Given the description of an element on the screen output the (x, y) to click on. 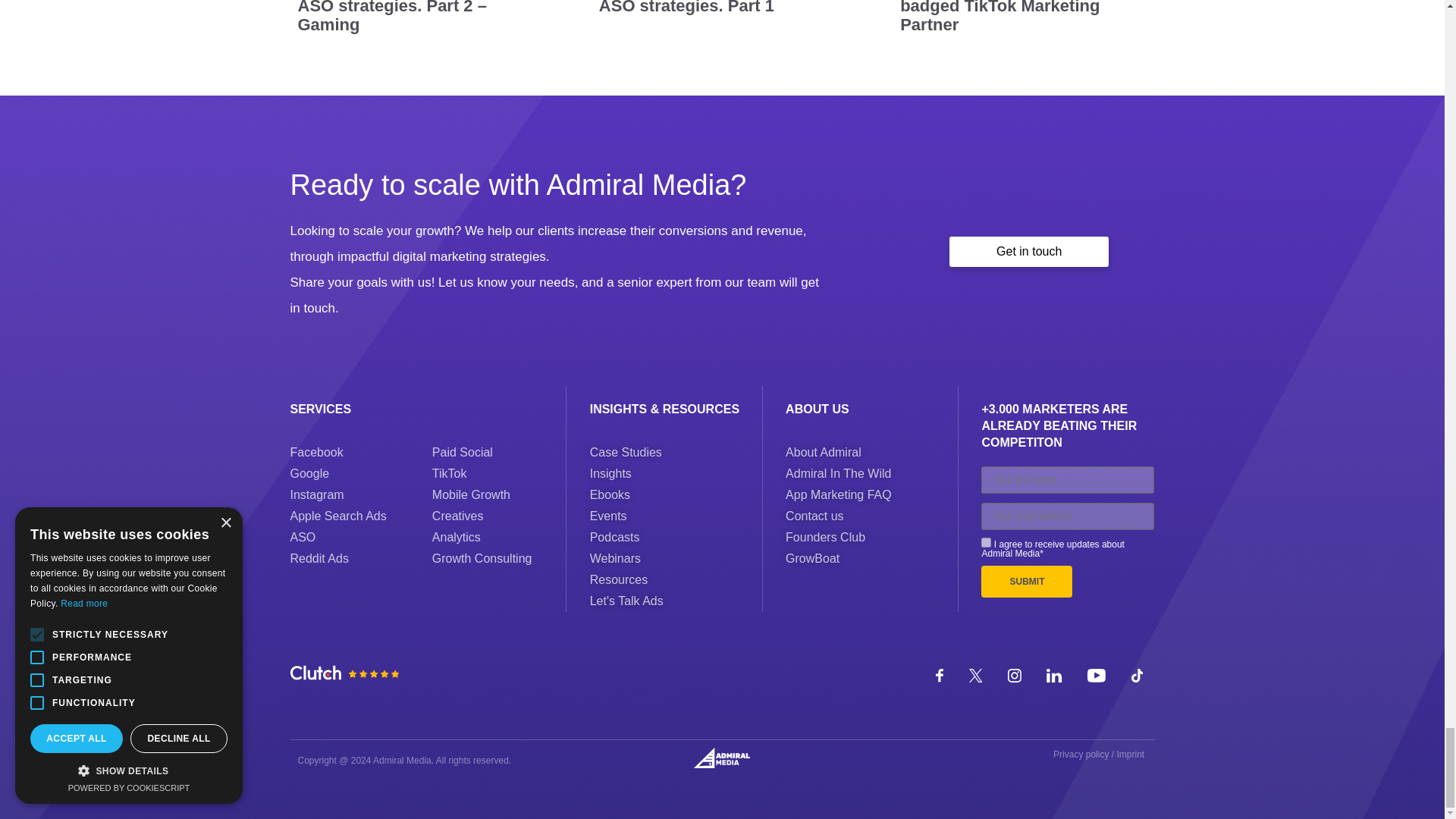
1 (986, 542)
submit (1026, 581)
